Given the description of an element on the screen output the (x, y) to click on. 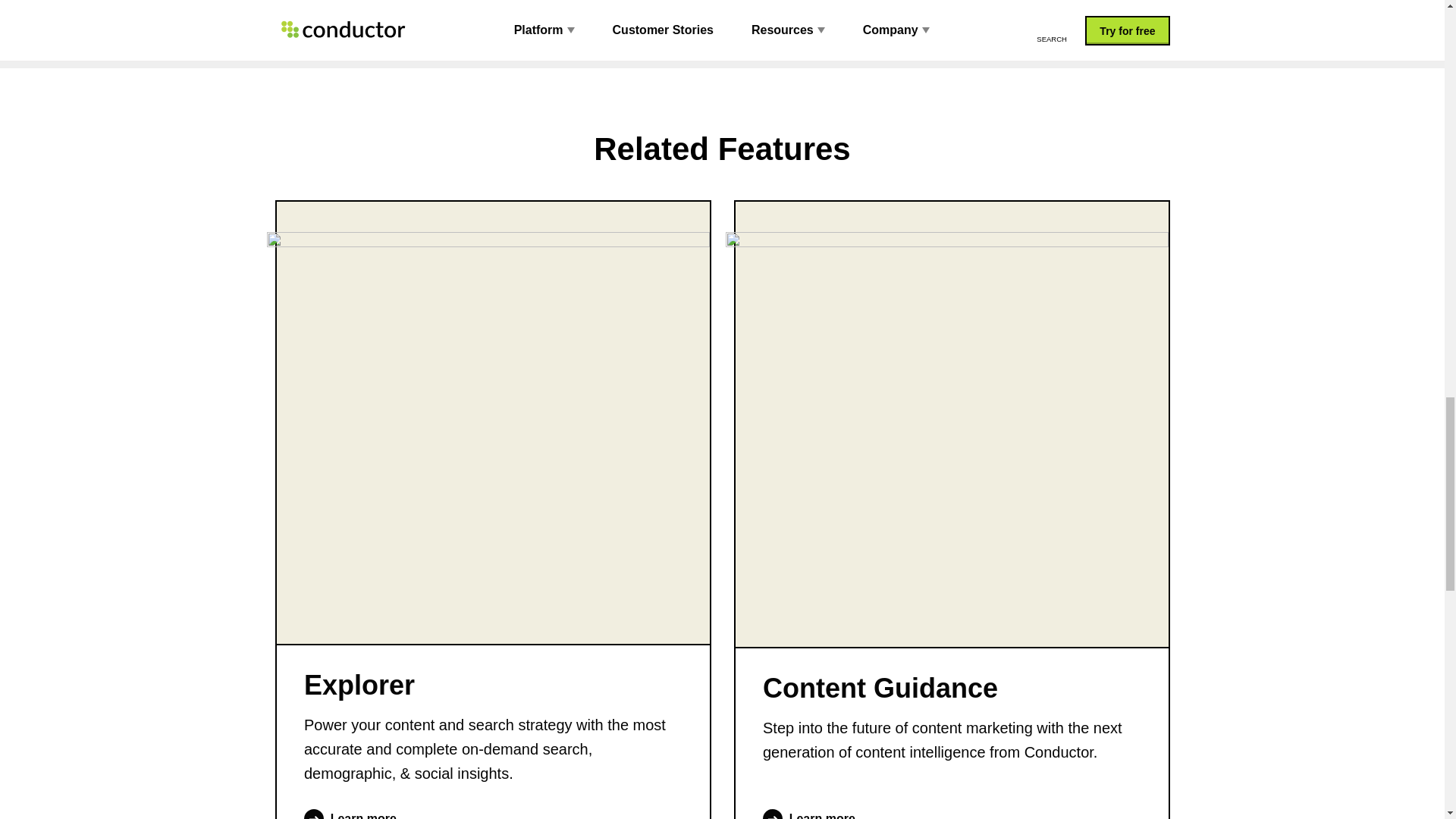
Explorer (491, 685)
Content Guidance (951, 688)
LinkedIn (509, 2)
